Given the description of an element on the screen output the (x, y) to click on. 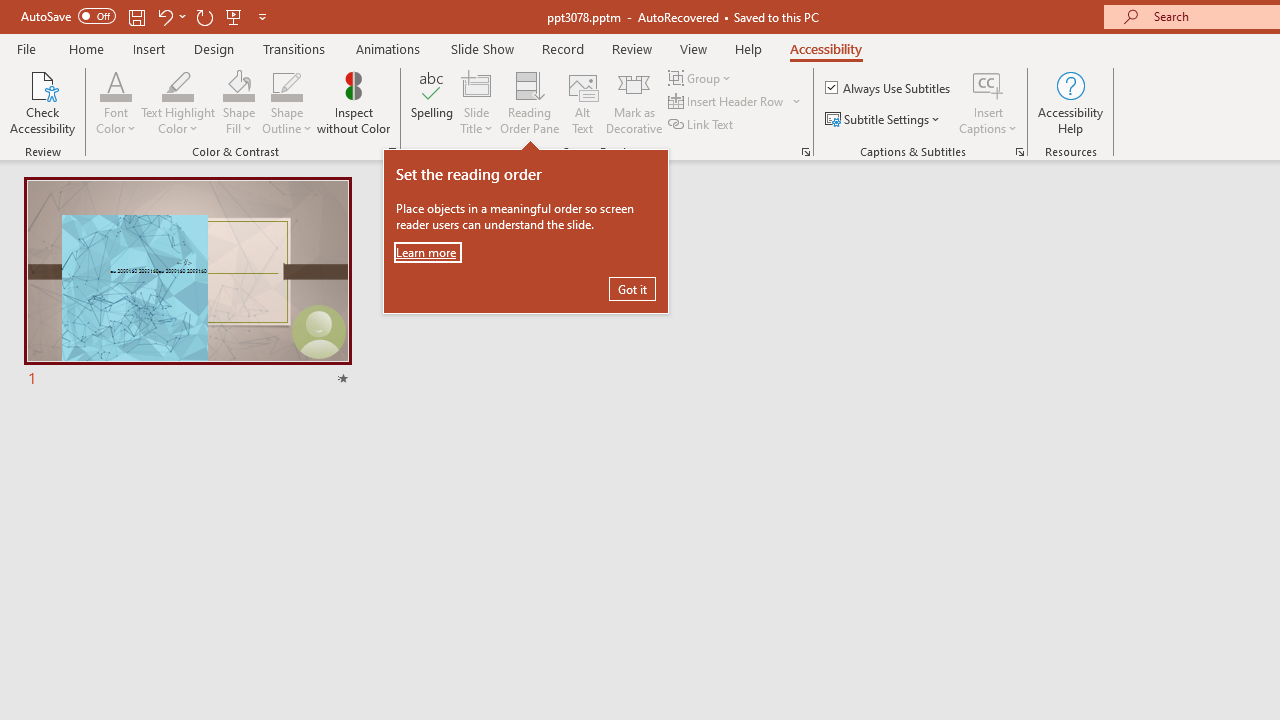
Captions & Subtitles (1019, 151)
Mark as Decorative (634, 102)
Subtitle Settings (884, 119)
